Given the description of an element on the screen output the (x, y) to click on. 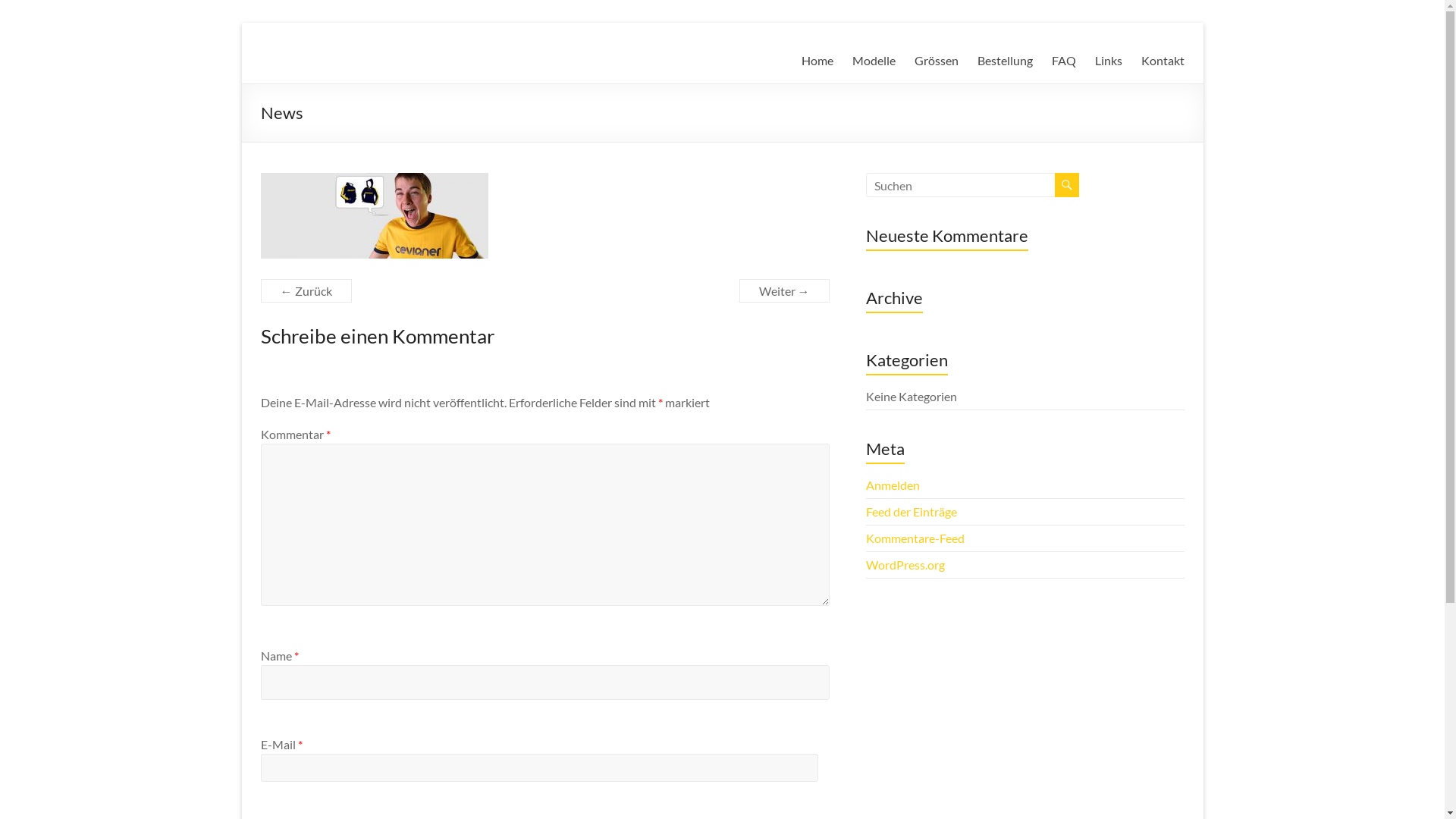
Zum Inhalt springen Element type: text (241, 21)
Bestellung Element type: text (1004, 60)
Kontakt Element type: text (1161, 60)
Kommentare-Feed Element type: text (915, 537)
Links Element type: text (1108, 60)
FAQ Element type: text (1063, 60)
Home Element type: text (816, 60)
Modelle Element type: text (873, 60)
Anmelden Element type: text (892, 484)
WordPress.org Element type: text (905, 564)
